Given the description of an element on the screen output the (x, y) to click on. 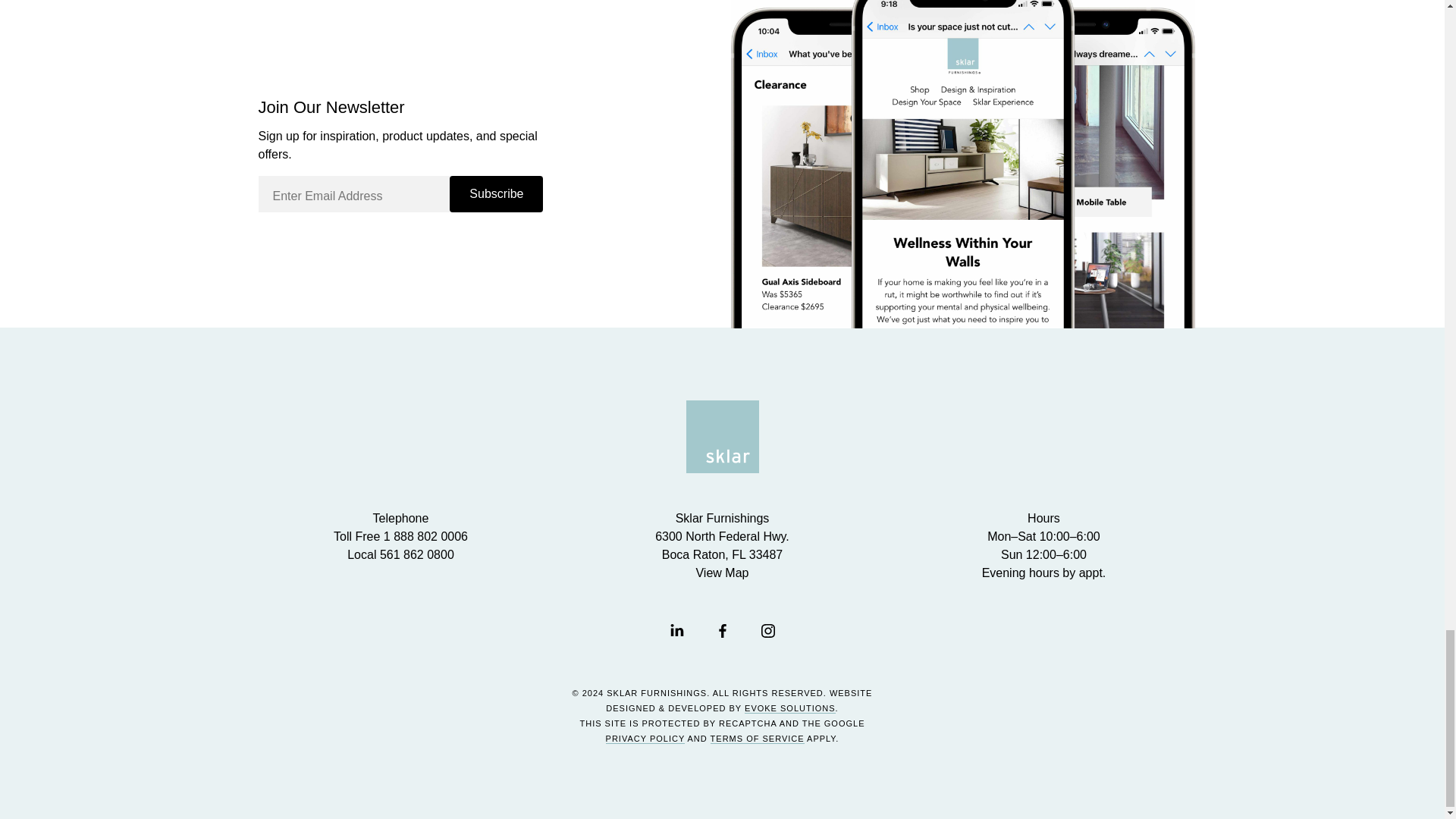
Subscribe (496, 194)
